Given the description of an element on the screen output the (x, y) to click on. 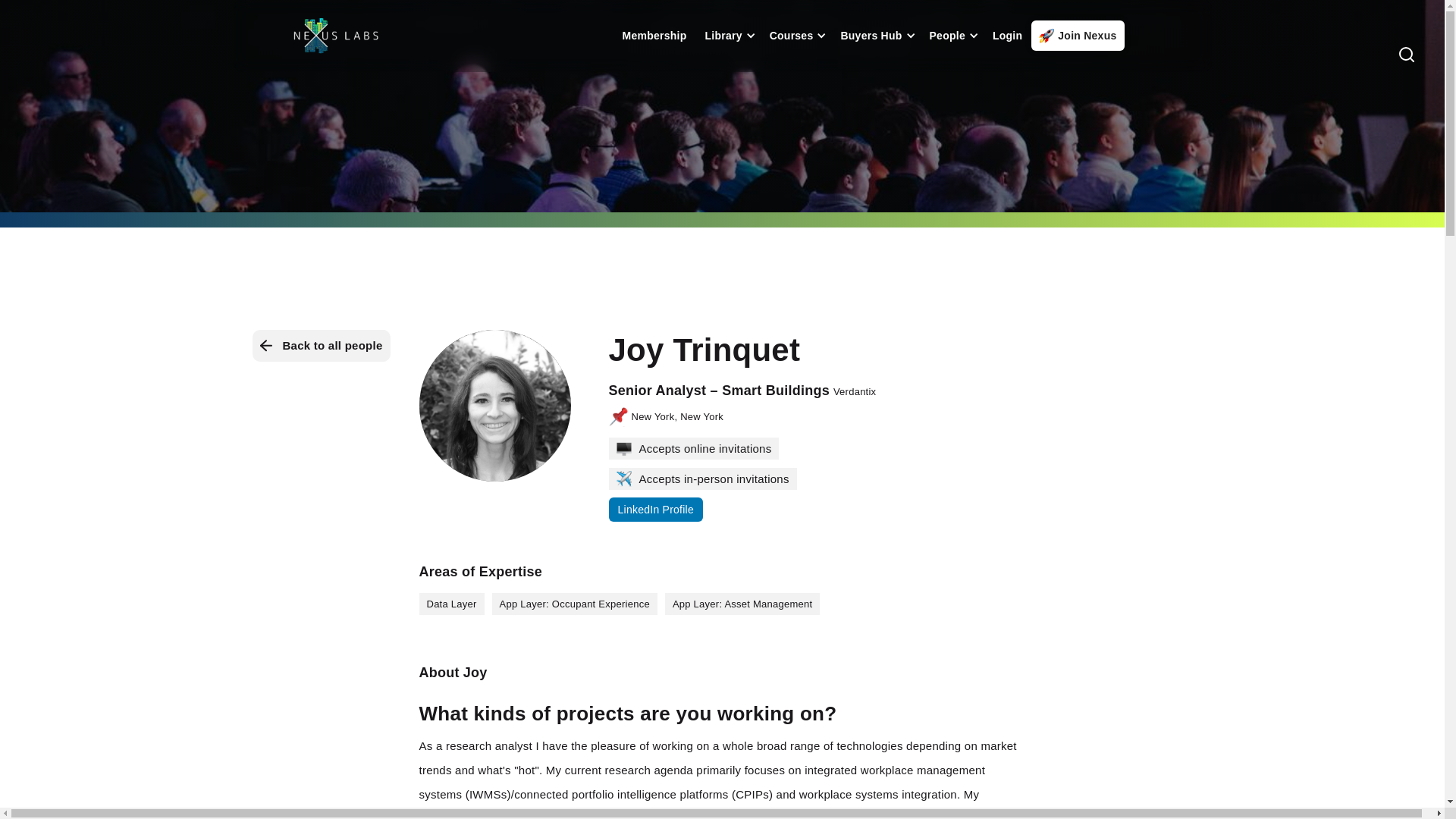
LinkedIn Profile (655, 509)
Back to all people (320, 345)
Login (1007, 35)
Join Nexus (1077, 35)
Membership (653, 35)
